Given the description of an element on the screen output the (x, y) to click on. 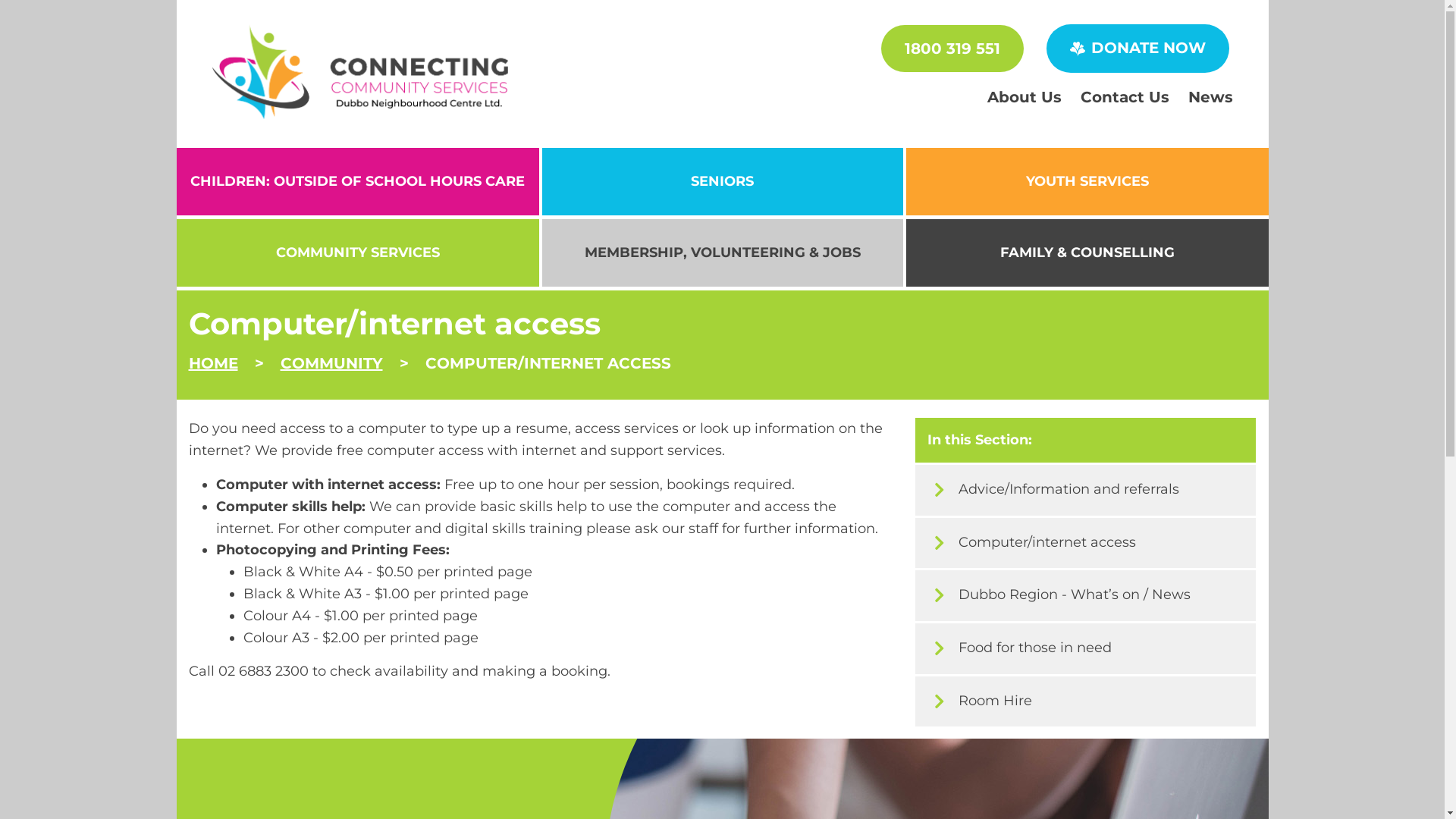
Advice/Information and referrals Element type: text (1085, 489)
CHILDREN: OUTSIDE OF SCHOOL HOURS CARE Element type: text (356, 181)
Room Hire Element type: text (1085, 701)
COMMUNITY SERVICES Element type: text (356, 252)
COMMUNITY Element type: text (331, 363)
Computer/internet access Element type: text (1085, 542)
SENIORS Element type: text (721, 181)
DONATE NOW Element type: text (1137, 48)
Contact Us Element type: text (1123, 96)
HOME Element type: text (212, 363)
FAMILY & COUNSELLING Element type: text (1086, 252)
Food for those in need Element type: text (1085, 648)
MEMBERSHIP, VOLUNTEERING & JOBS Element type: text (721, 252)
YOUTH SERVICES Element type: text (1086, 181)
1800 319 551 Element type: text (952, 48)
News Element type: text (1209, 96)
Connecting Community Services logo Element type: hover (360, 71)
About Us Element type: text (1024, 96)
